Given the description of an element on the screen output the (x, y) to click on. 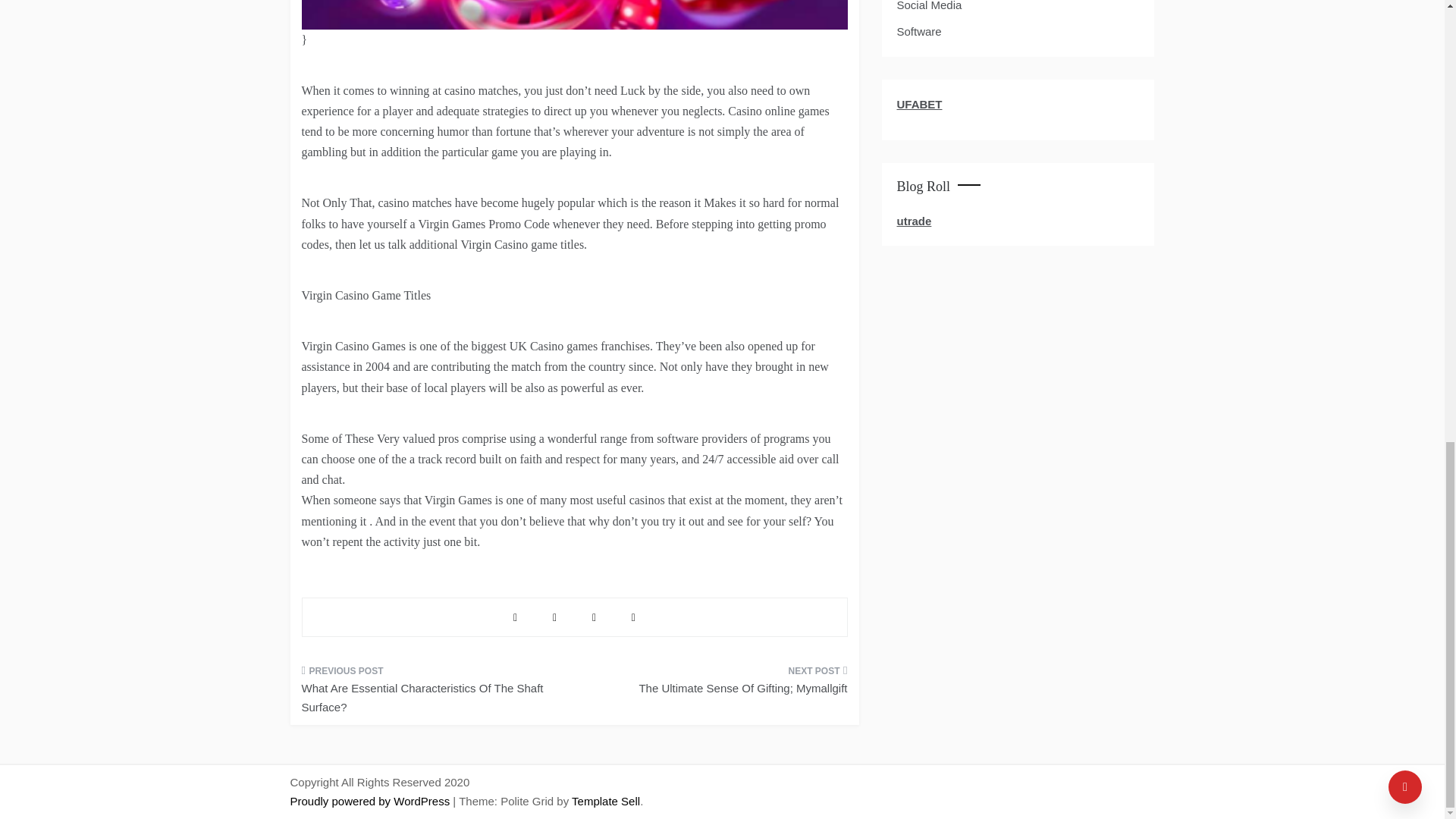
The Ultimate Sense Of Gifting; Mymallgift (716, 684)
Social Media (928, 7)
What Are Essential Characteristics Of The Shaft Surface? (432, 693)
